Given the description of an element on the screen output the (x, y) to click on. 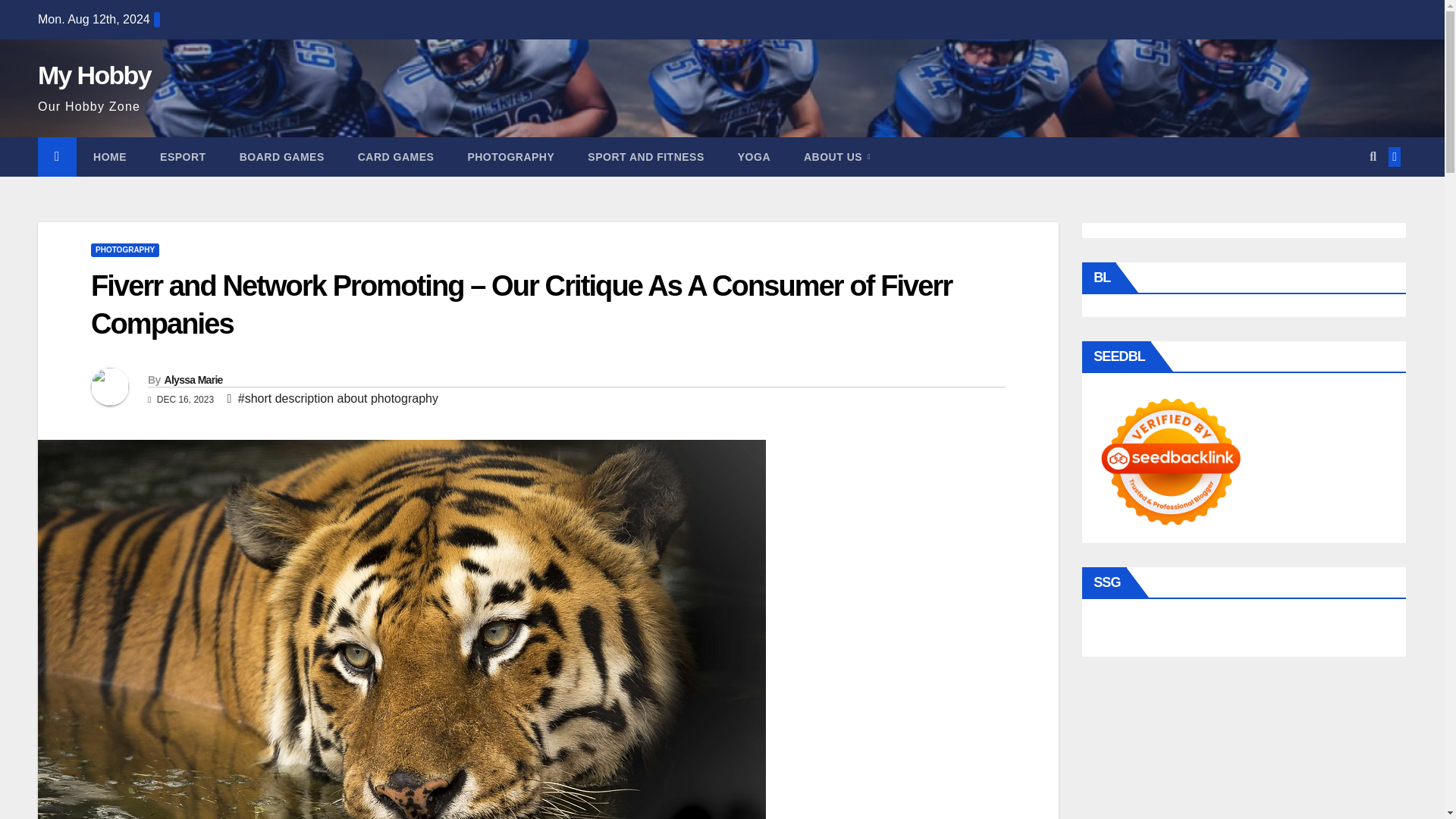
Home (109, 156)
BOARD GAMES (281, 156)
YOGA (753, 156)
ESPORT (182, 156)
Esport (182, 156)
ABOUT US (836, 156)
HOME (109, 156)
PHOTOGRAPHY (509, 156)
Alyssa Marie (192, 379)
CARD GAMES (395, 156)
